Given the description of an element on the screen output the (x, y) to click on. 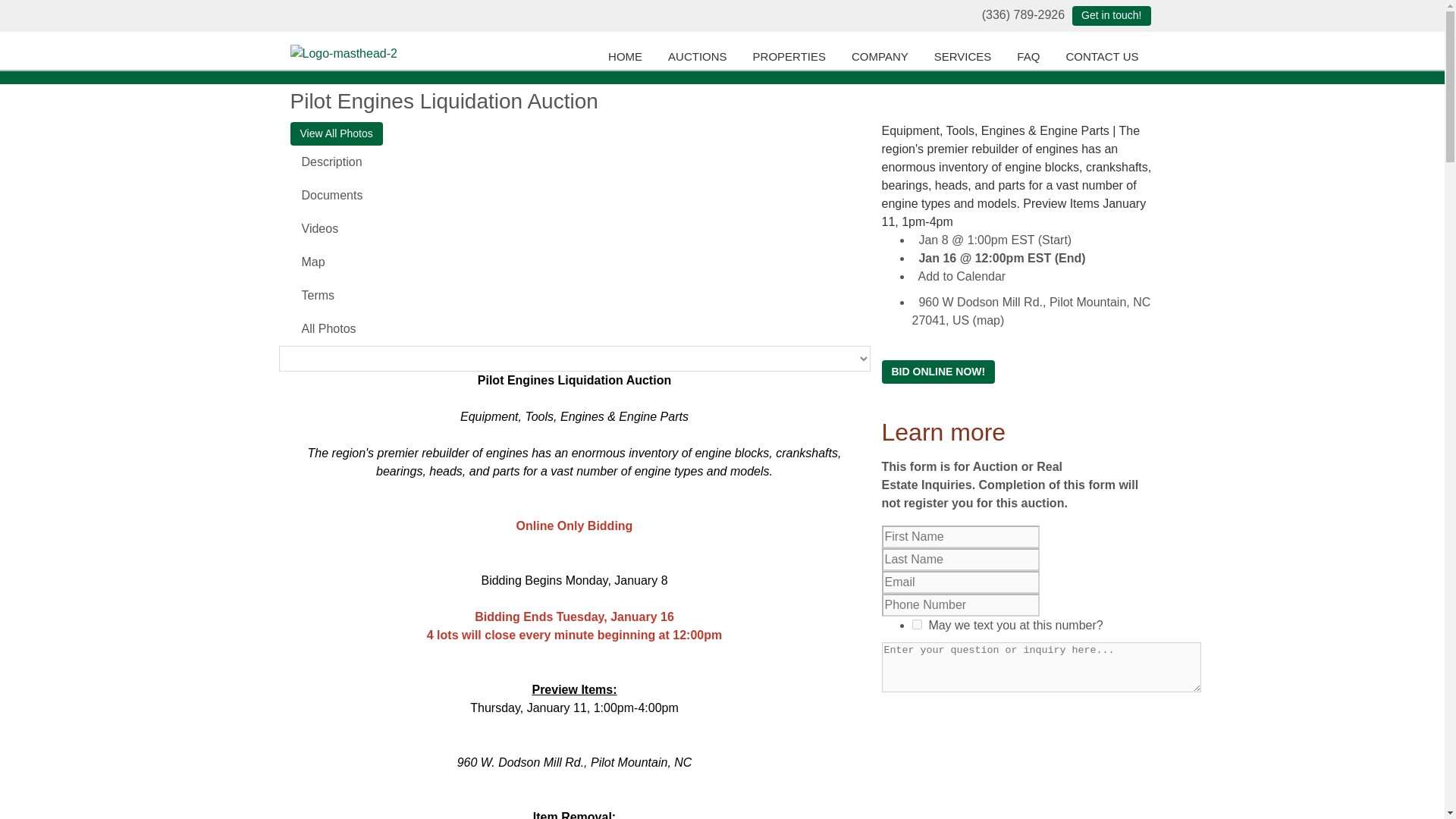
Contact Us (1110, 15)
COMPANY (882, 56)
Yes (916, 624)
Auctions (700, 56)
HOME (628, 56)
AUCTIONS (700, 56)
Home (628, 56)
Documents (574, 195)
SERVICES (965, 56)
Description (574, 162)
Properties (791, 56)
View All Photos (335, 134)
PROPERTIES (791, 56)
CONTACT US (1104, 56)
Company (882, 56)
